Given the description of an element on the screen output the (x, y) to click on. 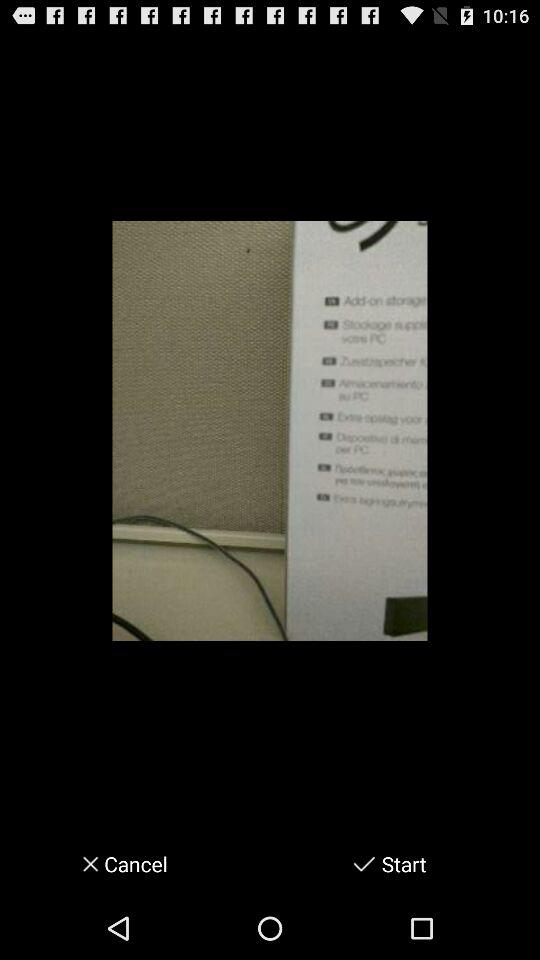
start (363, 864)
